Given the description of an element on the screen output the (x, y) to click on. 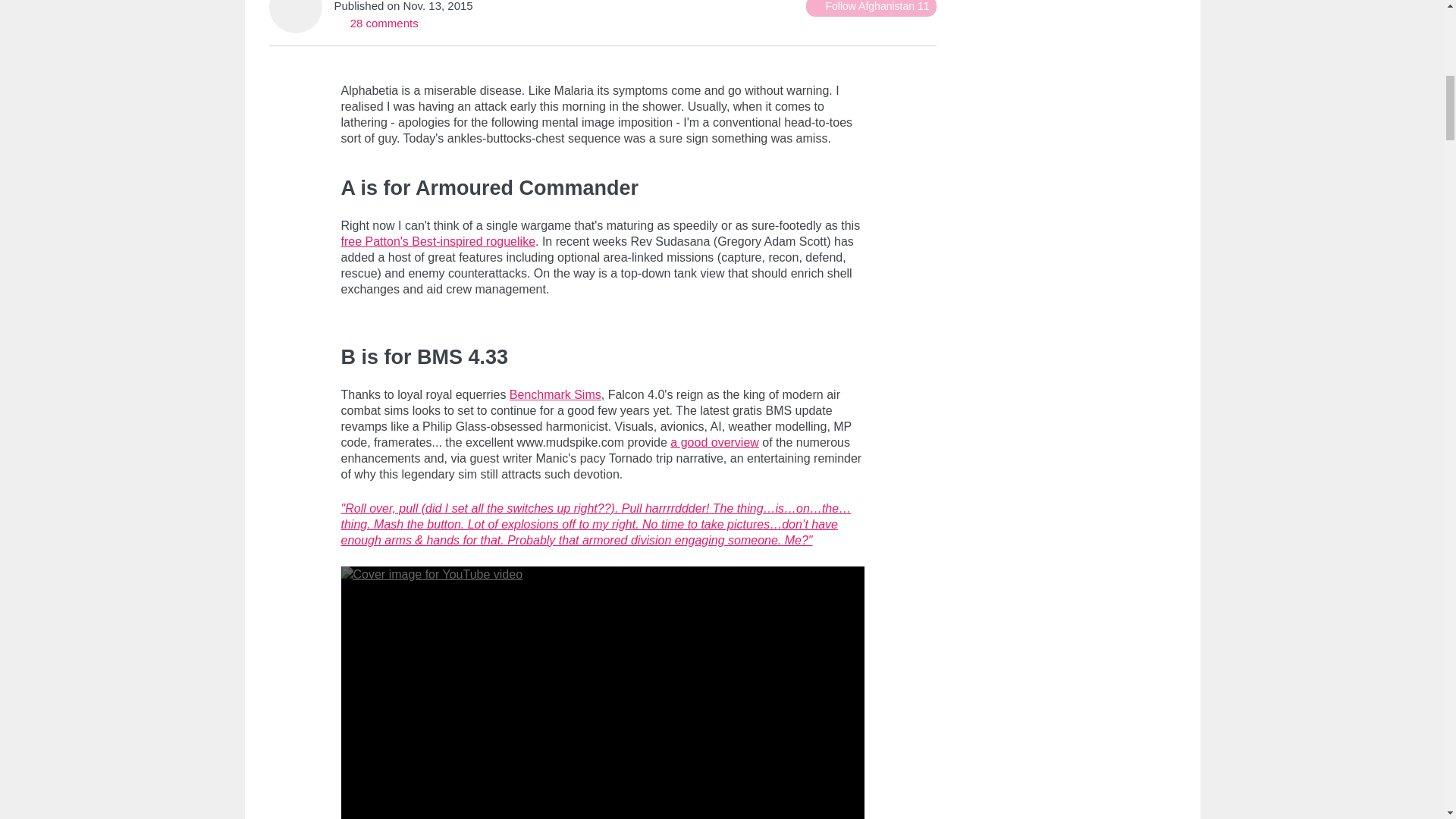
Benchmark Sims (555, 394)
28 comments (375, 22)
free Patton's Best-inspired roguelike (437, 241)
Follow Afghanistan 11 (871, 8)
a good overview (713, 441)
